Given the description of an element on the screen output the (x, y) to click on. 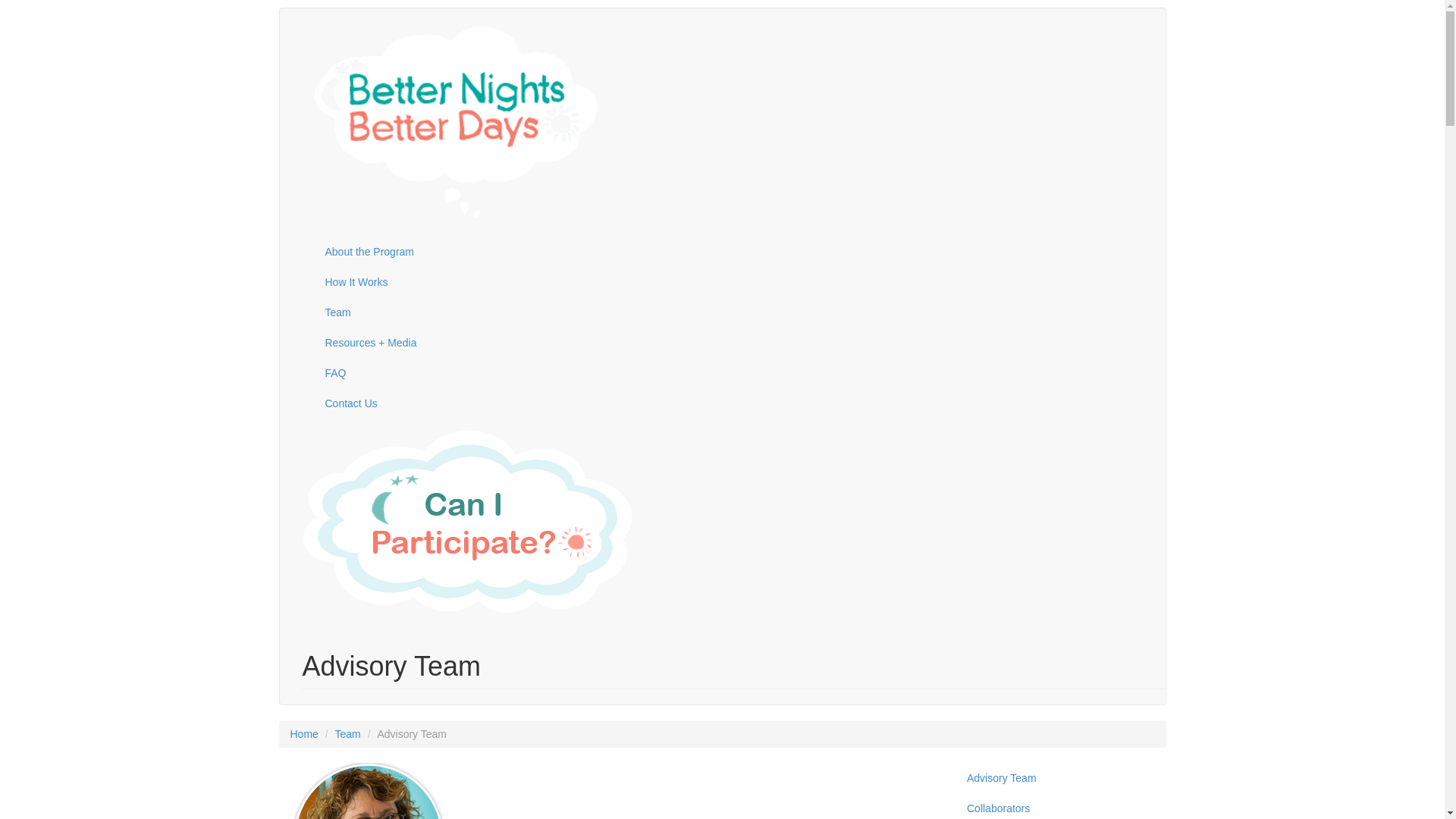
Contact Us Element type: text (734, 403)
How It Works Element type: text (734, 281)
FAQ Element type: text (734, 372)
Skip to main content Element type: text (48, 0)
Home Element type: text (303, 734)
Resources + Media Element type: text (734, 342)
Advisory Team Element type: text (1054, 777)
Team Element type: text (347, 734)
About the Program Element type: text (734, 251)
Team Element type: text (734, 312)
